Given the description of an element on the screen output the (x, y) to click on. 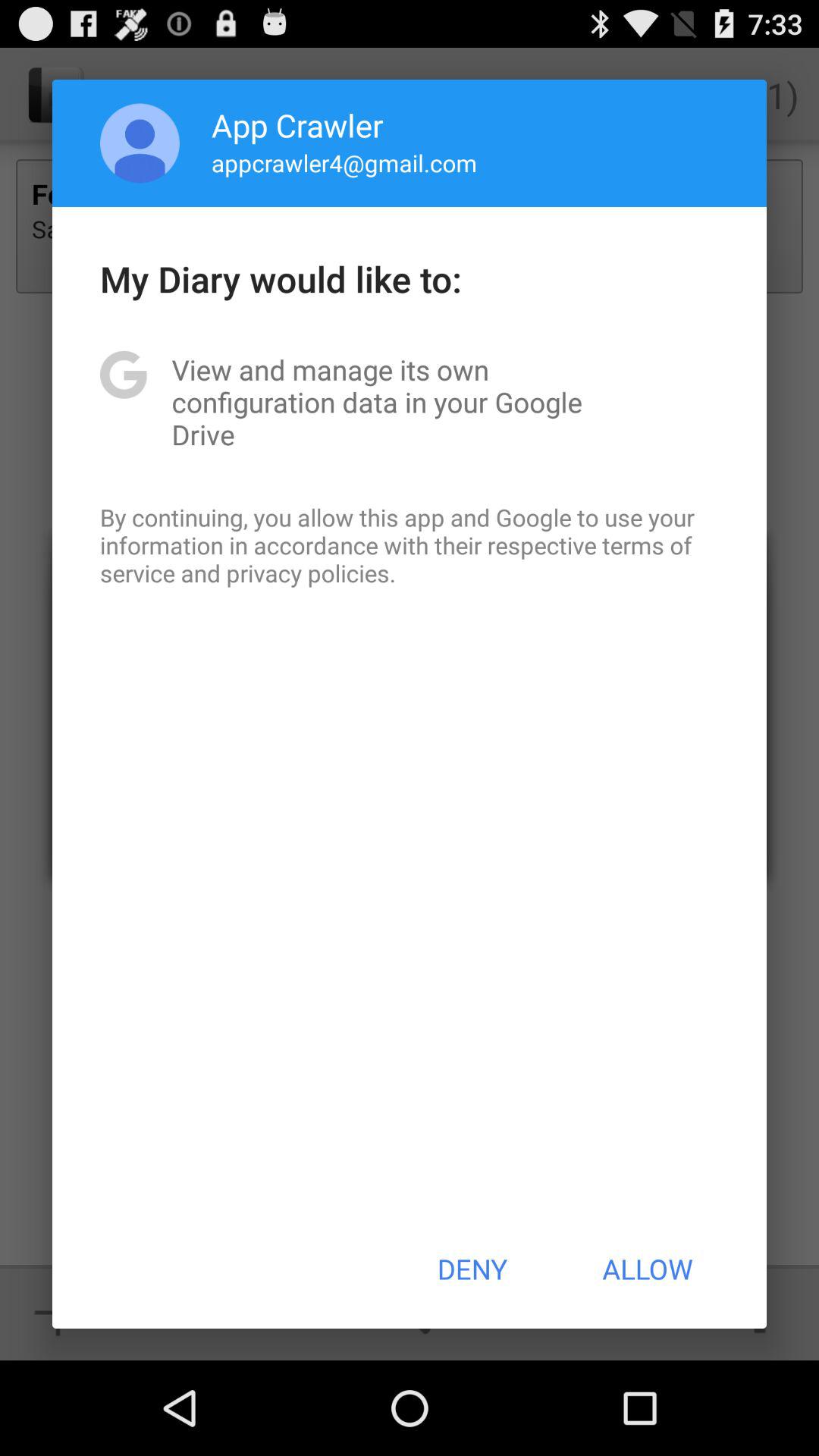
tap the appcrawler4@gmail.com item (344, 162)
